Given the description of an element on the screen output the (x, y) to click on. 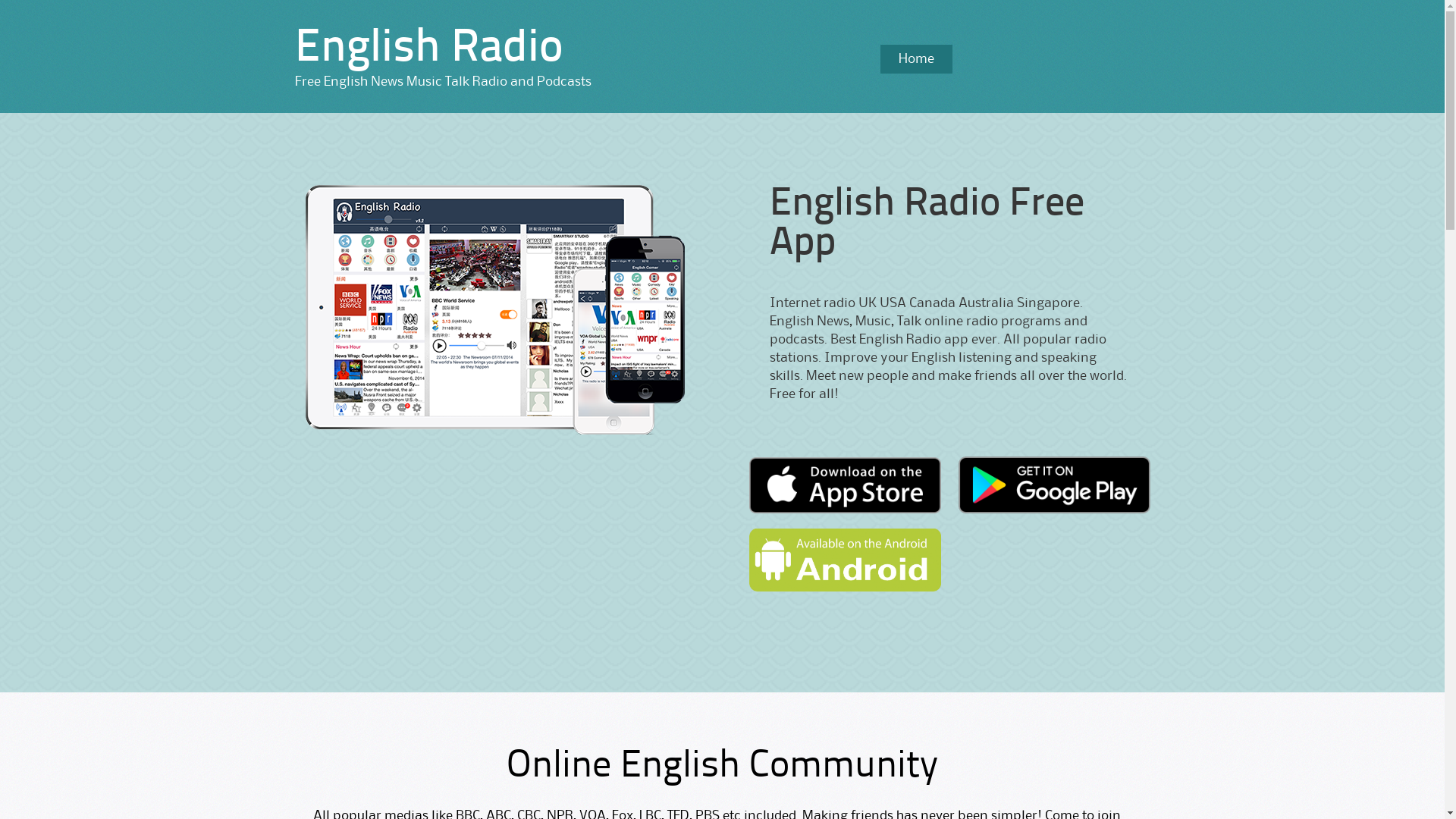
English Radio Element type: text (428, 49)
Skip to content Element type: text (740, 48)
Home Element type: text (916, 58)
